Given the description of an element on the screen output the (x, y) to click on. 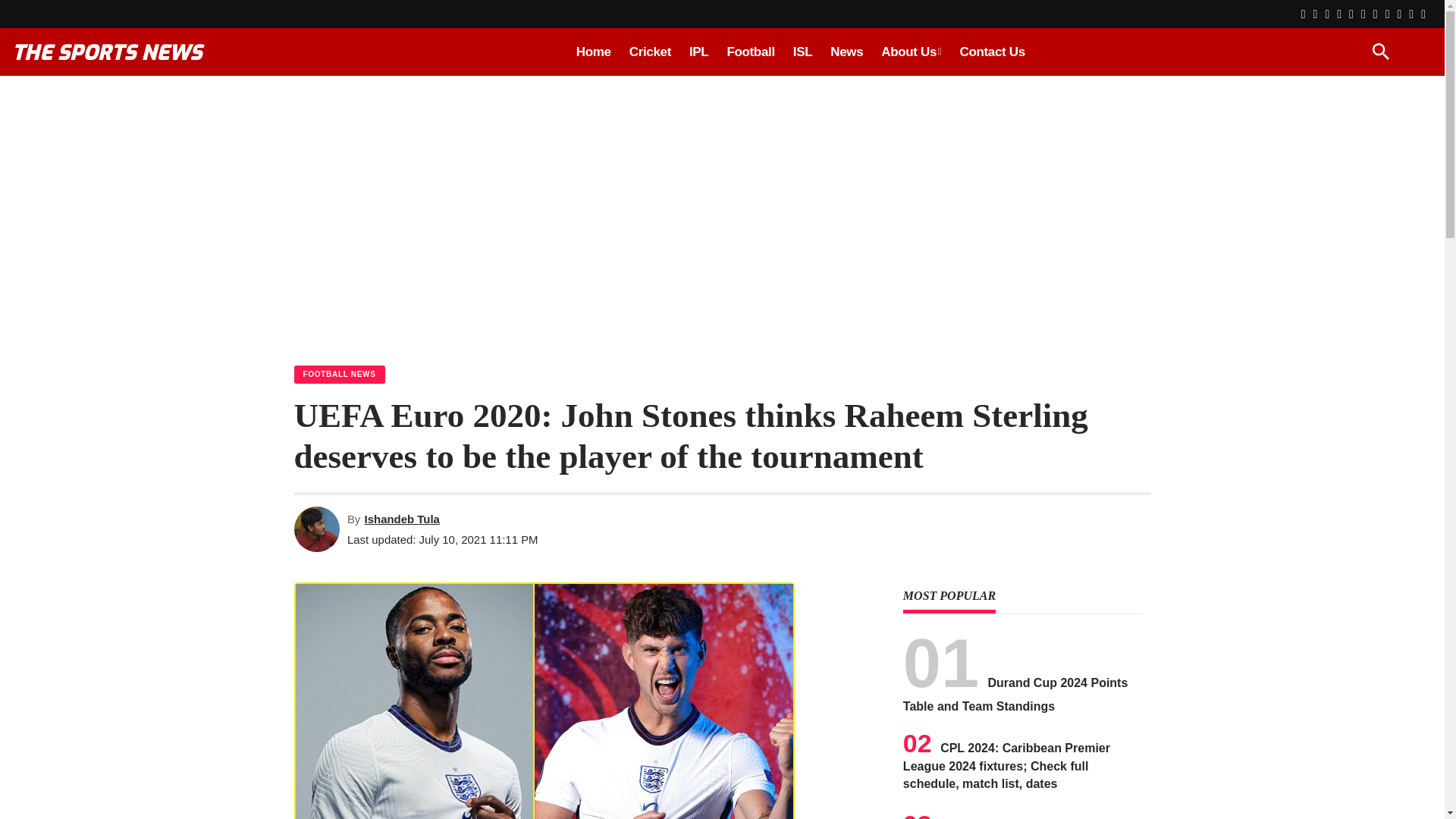
Home (593, 51)
Football (750, 51)
About Us (911, 51)
Cricket (649, 51)
Contact Us (991, 51)
News (846, 51)
